Given the description of an element on the screen output the (x, y) to click on. 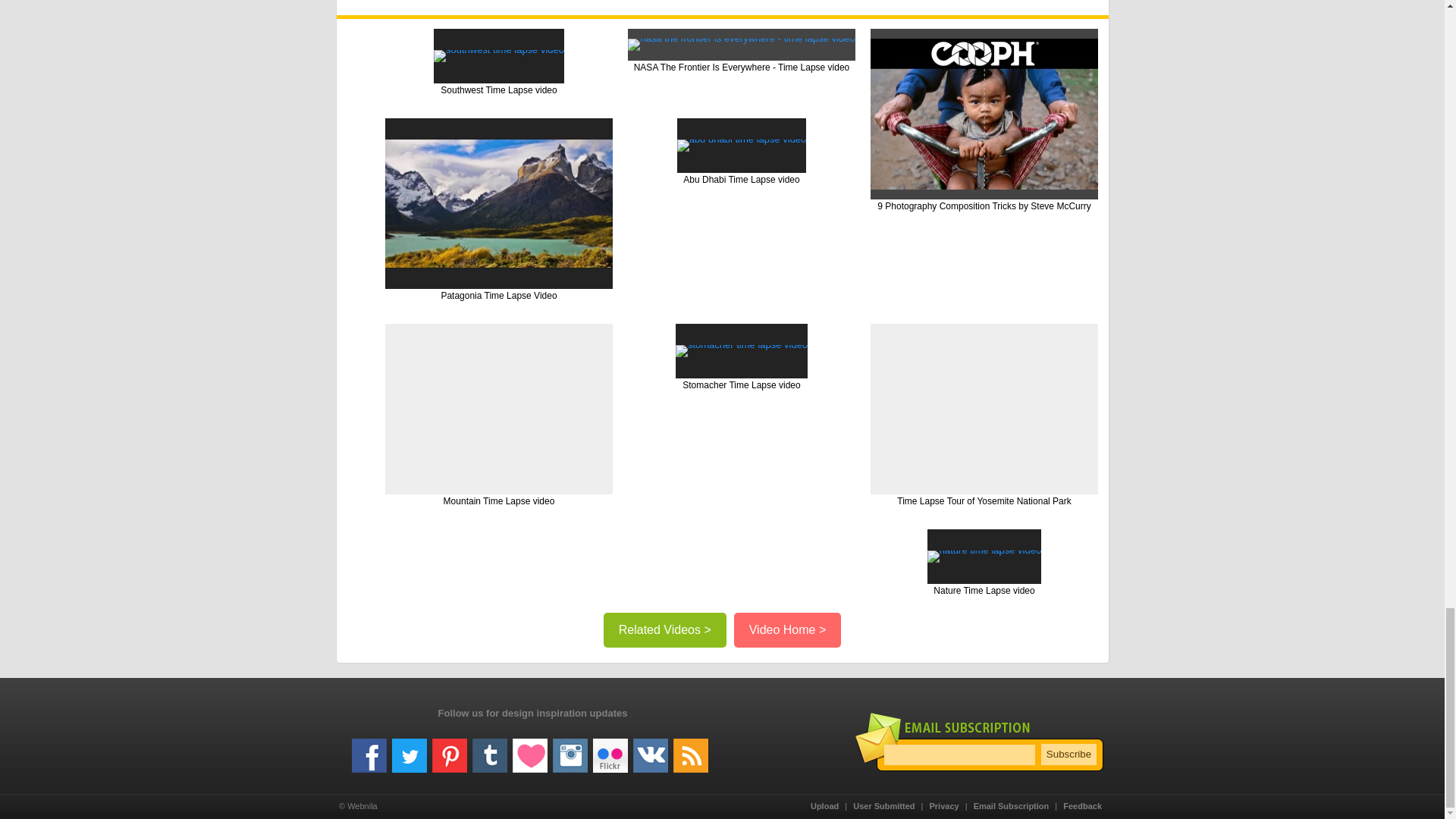
Subscribe (1068, 753)
mountain time lapse video (498, 408)
time lapse tour of yosemite national park (983, 408)
